Given the description of an element on the screen output the (x, y) to click on. 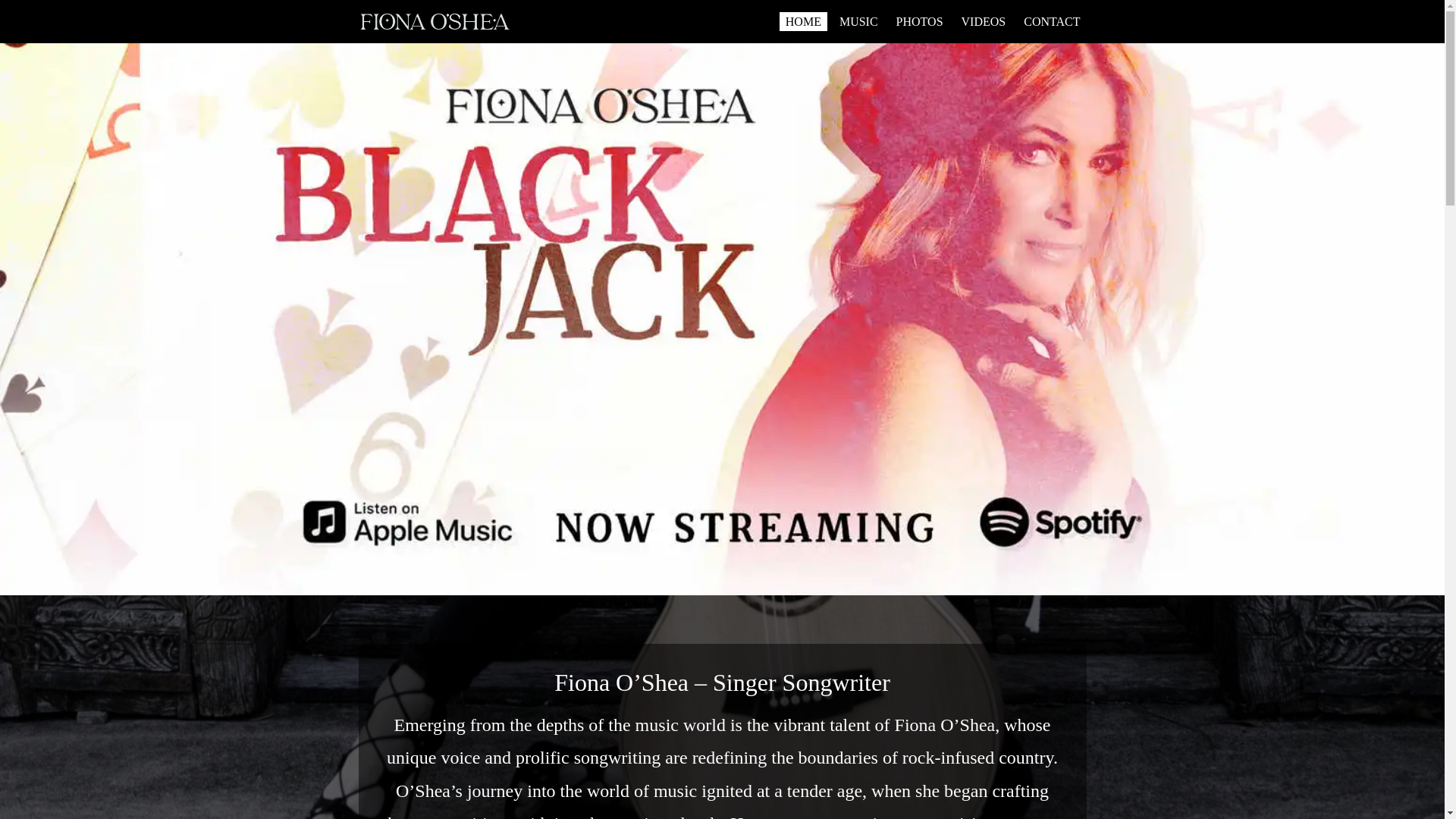
MUSIC Element type: text (858, 21)
PHOTOS Element type: text (919, 21)
HOME Element type: text (803, 21)
CONTACT Element type: text (1051, 21)
VIDEOS Element type: text (983, 21)
